Given the description of an element on the screen output the (x, y) to click on. 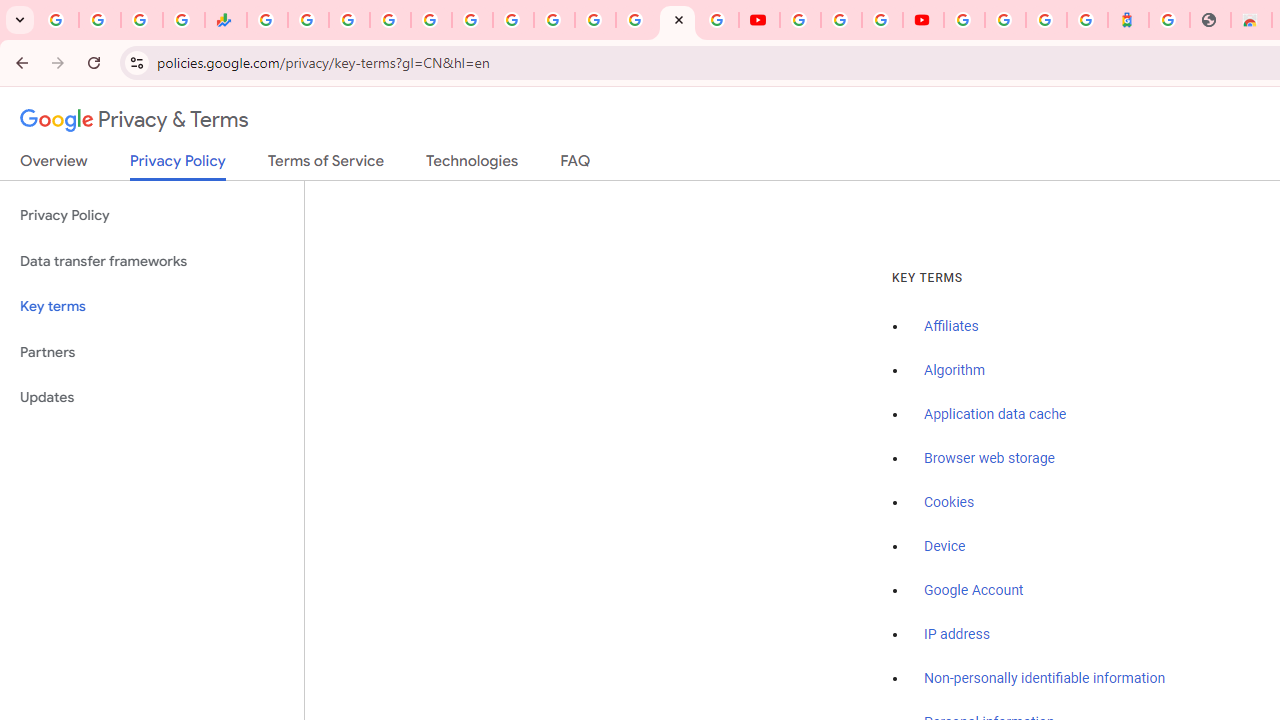
Partners (152, 352)
FAQ (575, 165)
Updates (152, 398)
YouTube (553, 20)
Technologies (472, 165)
Content Creator Programs & Opportunities - YouTube Creators (923, 20)
Create your Google Account (881, 20)
IP address (956, 634)
